Given the description of an element on the screen output the (x, y) to click on. 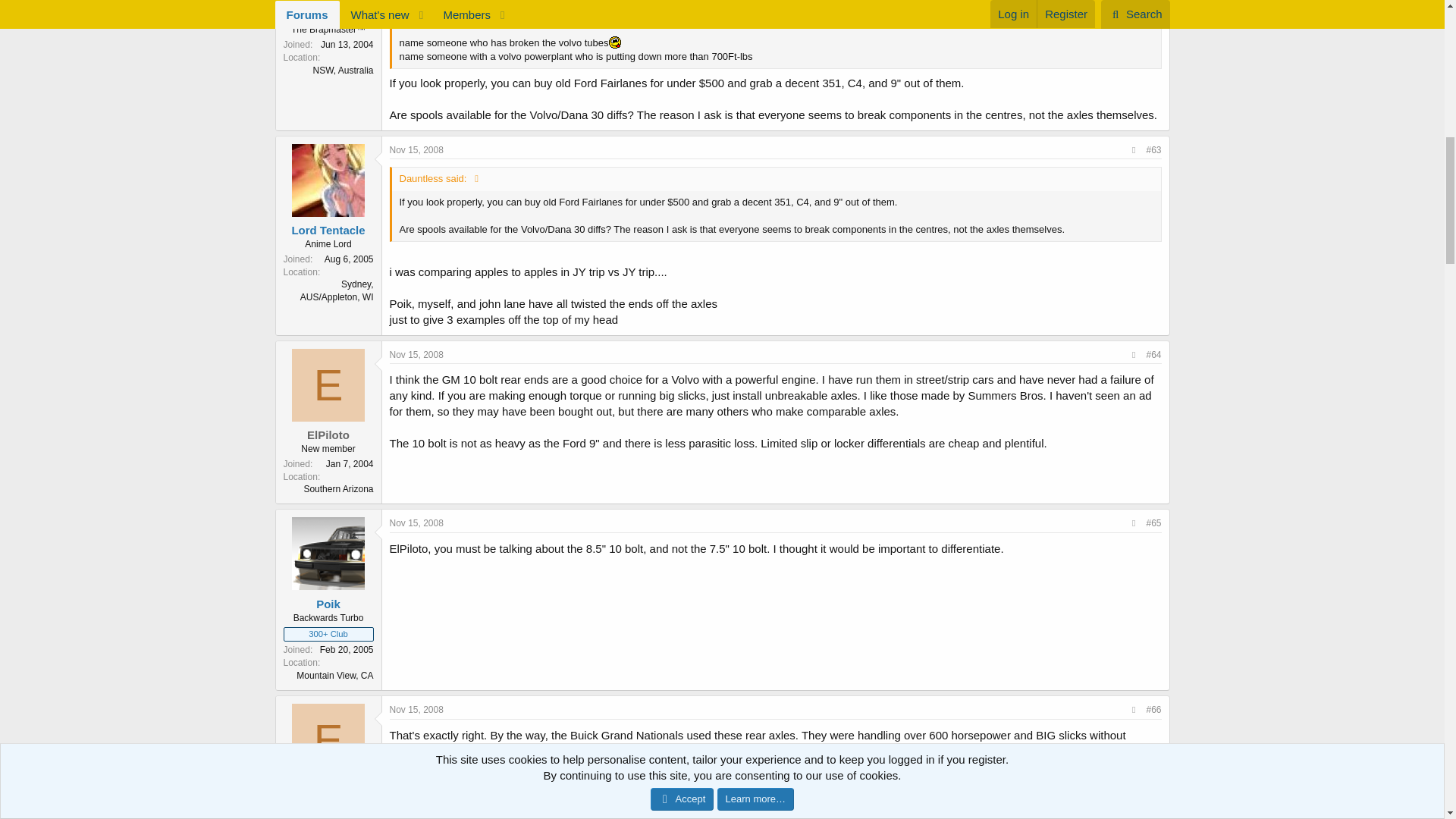
Razz    :-P (614, 42)
Rolling Eyes    :roll: (781, 14)
WTF    :wtf: (745, 3)
